Given the description of an element on the screen output the (x, y) to click on. 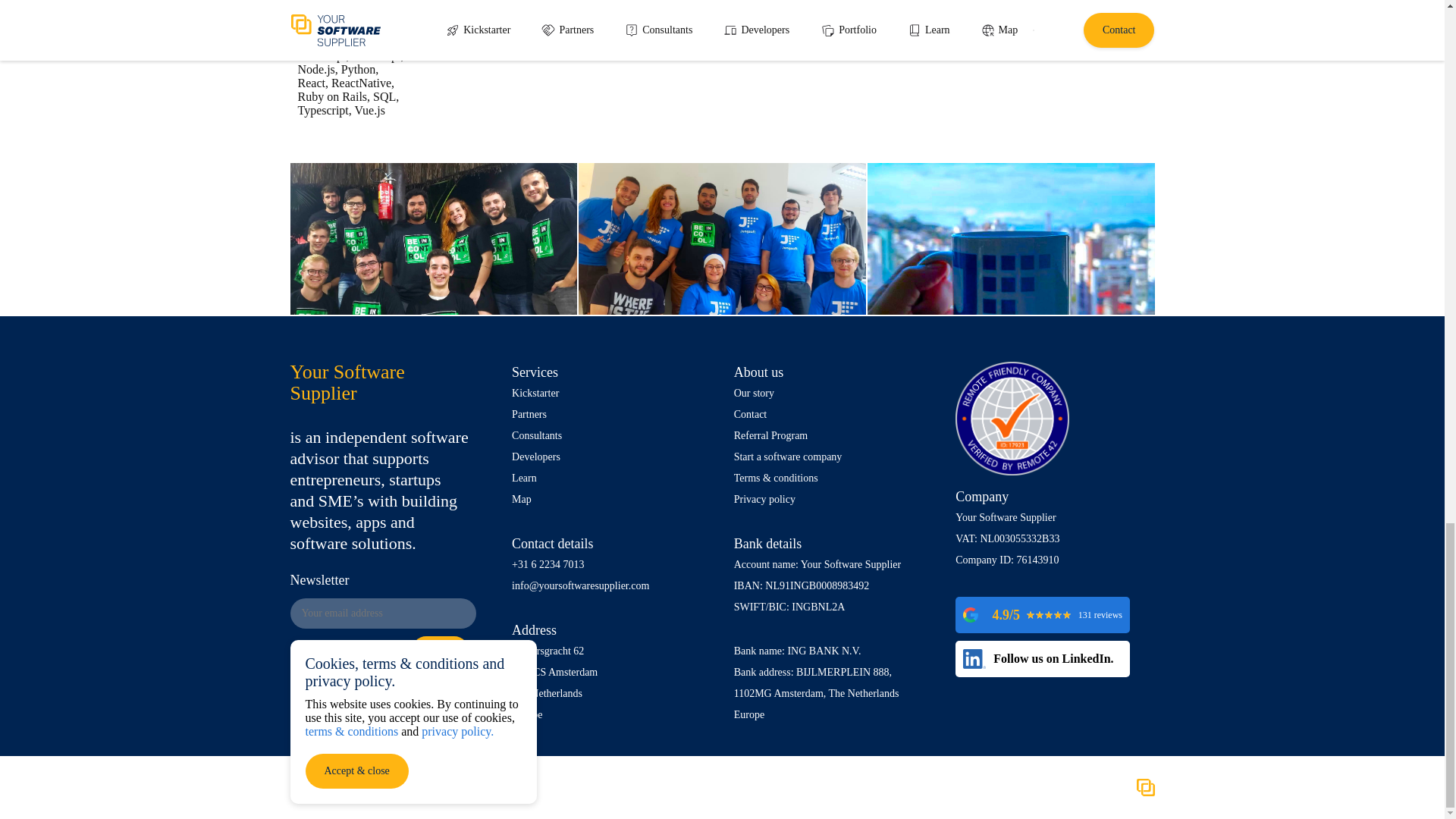
Map (611, 499)
Referral Program (833, 435)
Learn (611, 477)
Consultants (611, 435)
Contact (833, 414)
Subscribe (440, 650)
Follow us on LinkedIn. (1042, 658)
Partners (611, 414)
Privacy policy (833, 499)
Start a software company (833, 456)
Our story (833, 393)
Kickstarter (611, 393)
Developers (611, 456)
